Given the description of an element on the screen output the (x, y) to click on. 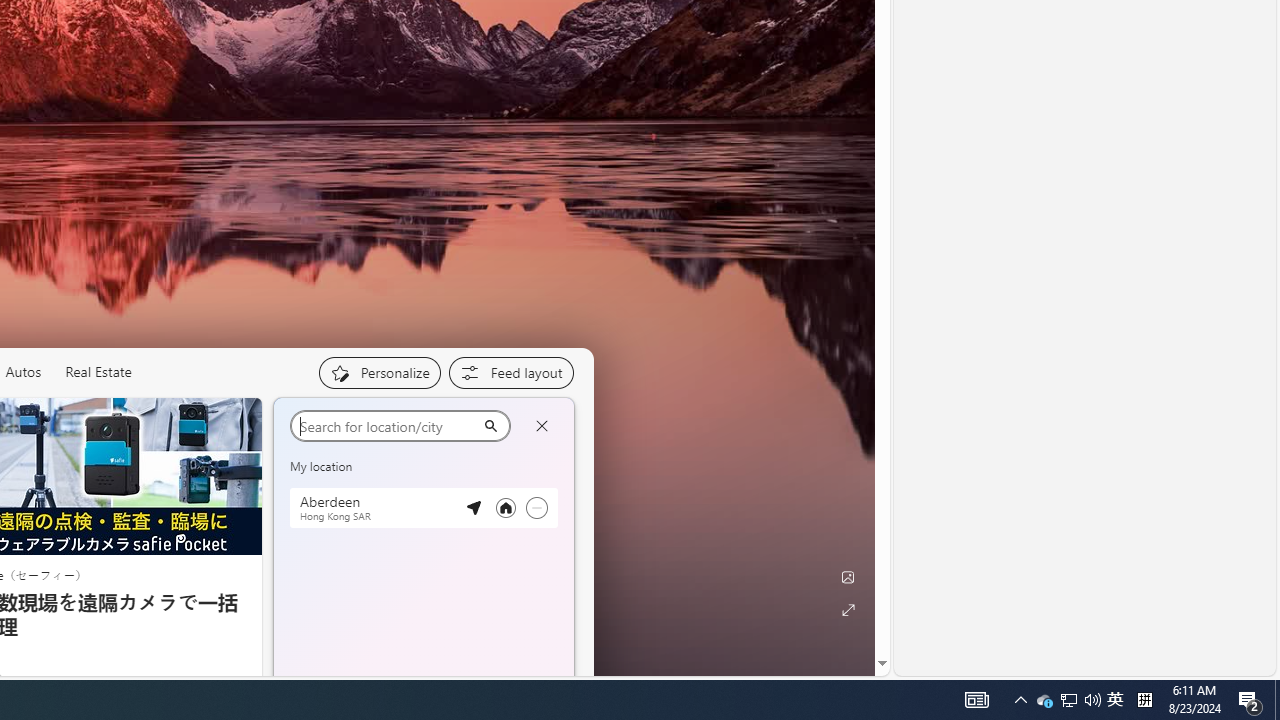
Shanghai (319, 422)
Set as your primary location (505, 507)
Mostly sunny (477, 585)
Personalize your feed" (379, 372)
Cannot remove (536, 507)
My location (362, 421)
Sunny (369, 585)
Mostly sunny (311, 474)
Edit Background (847, 577)
